Given the description of an element on the screen output the (x, y) to click on. 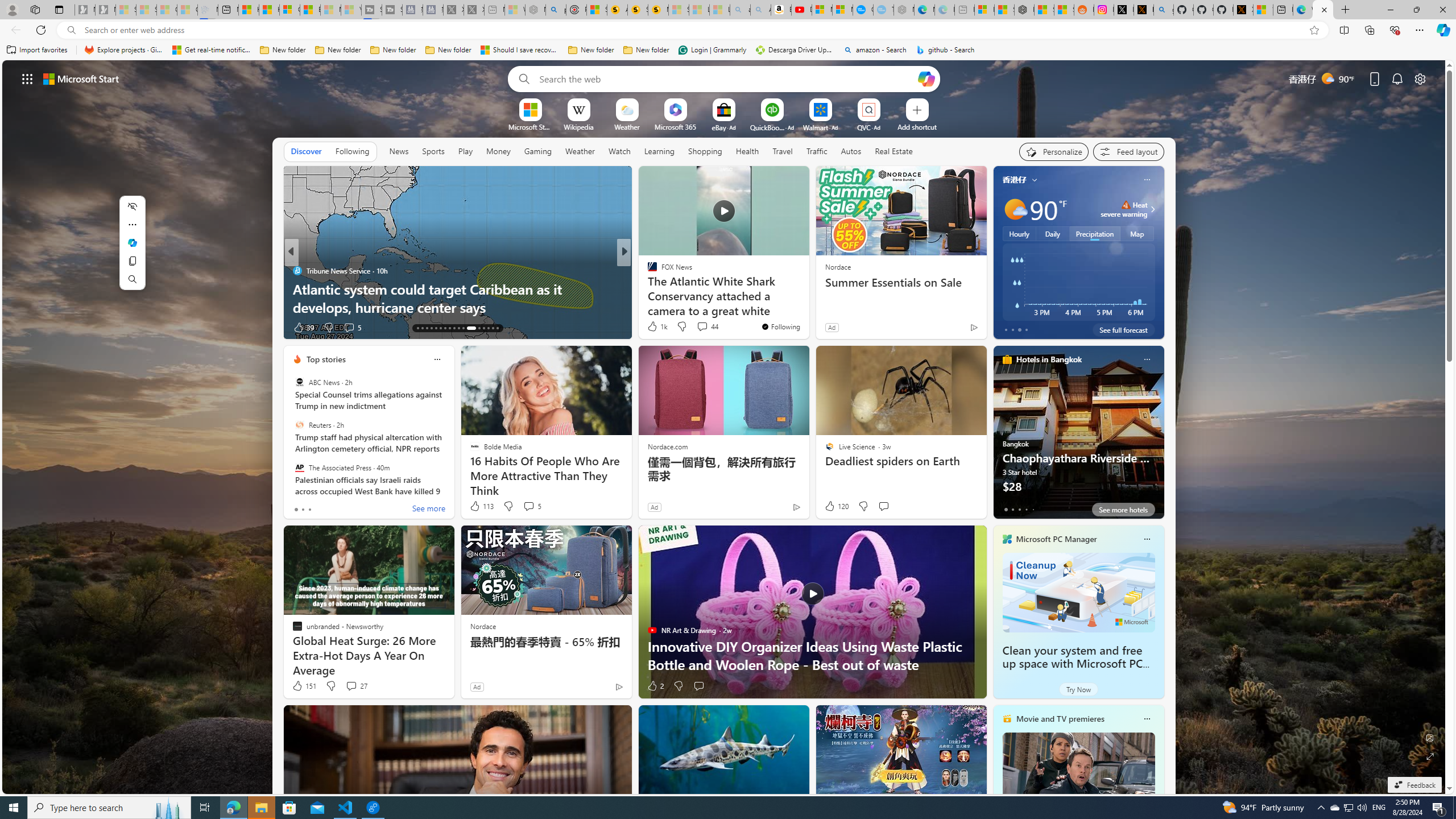
Personalize your feed" (1054, 151)
Heat - Severe Heat severe warning (1123, 208)
github - Search (945, 49)
Ask Copilot (132, 242)
Login | Grammarly (712, 49)
USA TODAY (647, 270)
AutomationID: tab-28 (492, 328)
The Kanso (647, 270)
